Given the description of an element on the screen output the (x, y) to click on. 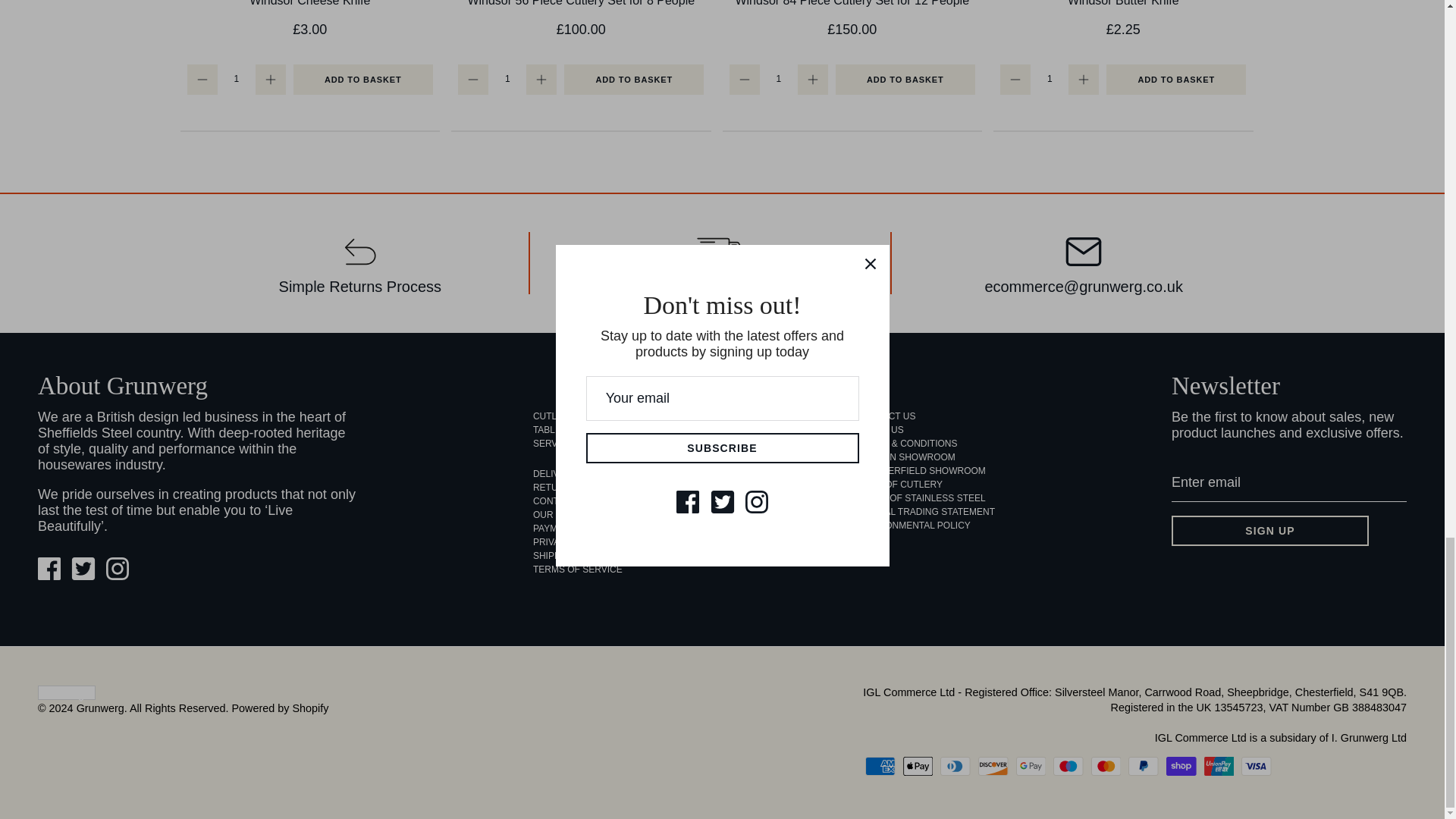
Add to basket (1176, 79)
Add to basket (633, 79)
1 (236, 78)
Add to basket (905, 79)
1 (507, 78)
1 (1048, 78)
1 (777, 78)
Add to basket (363, 79)
